Given the description of an element on the screen output the (x, y) to click on. 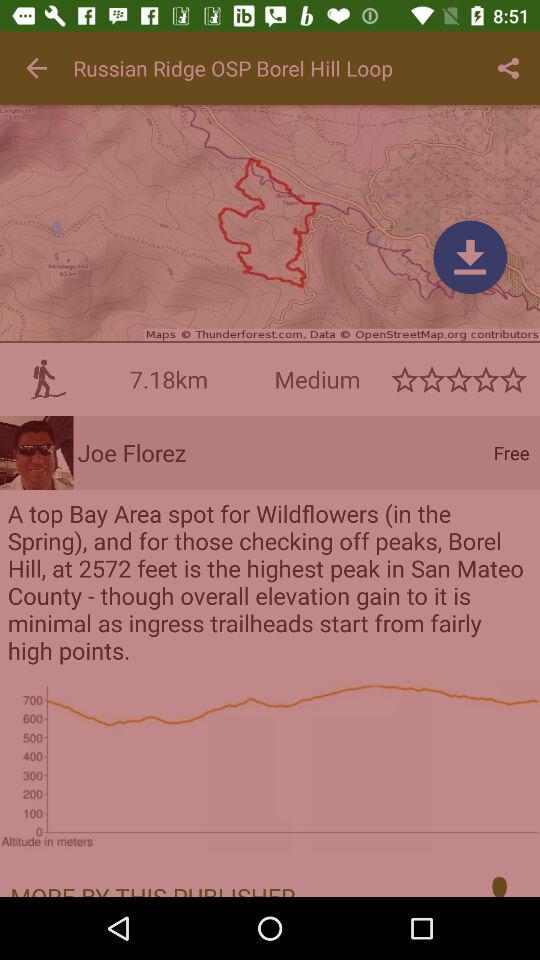
download offline map (470, 257)
